Given the description of an element on the screen output the (x, y) to click on. 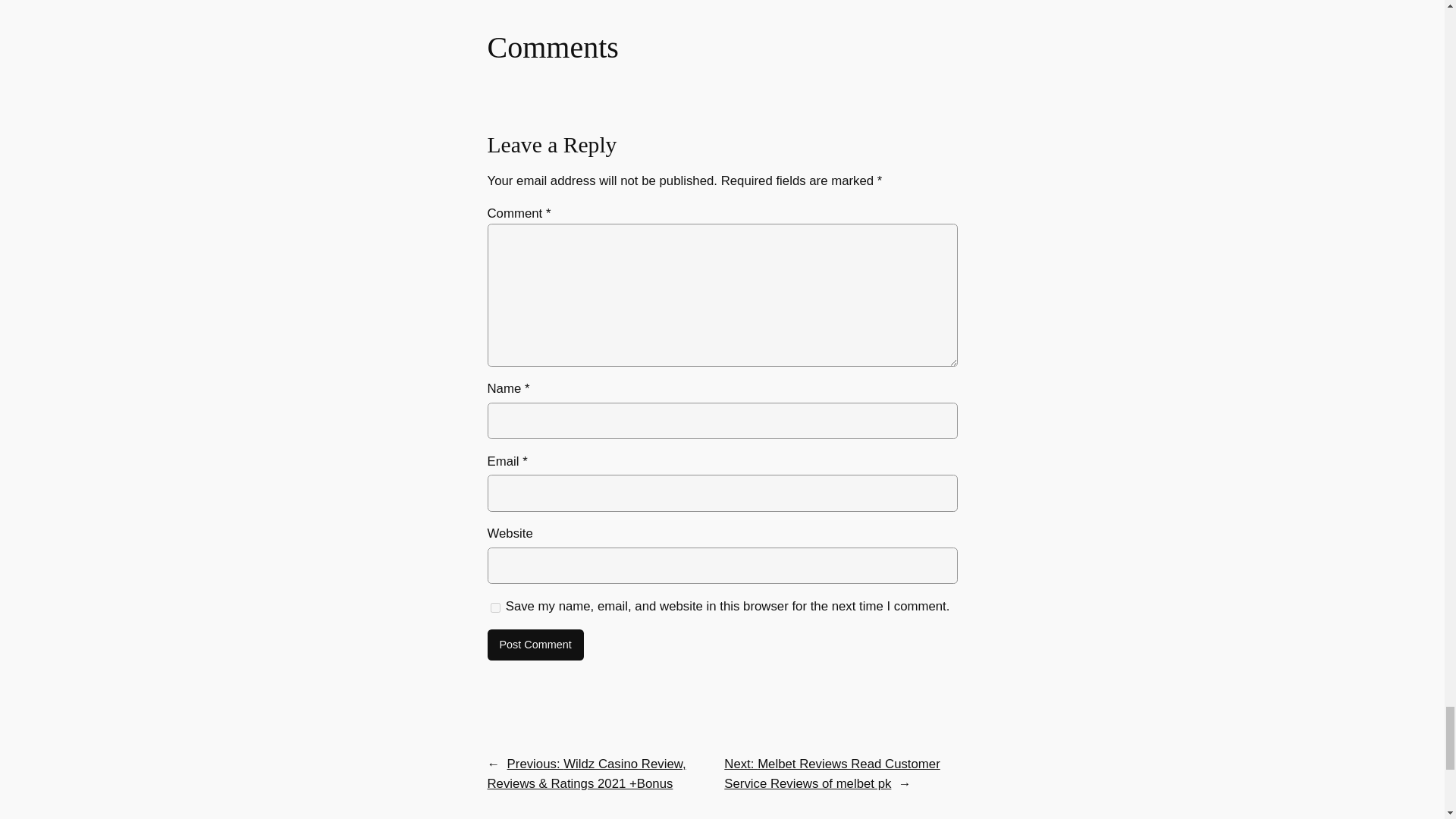
Post Comment (534, 644)
Post Comment (534, 644)
